Given the description of an element on the screen output the (x, y) to click on. 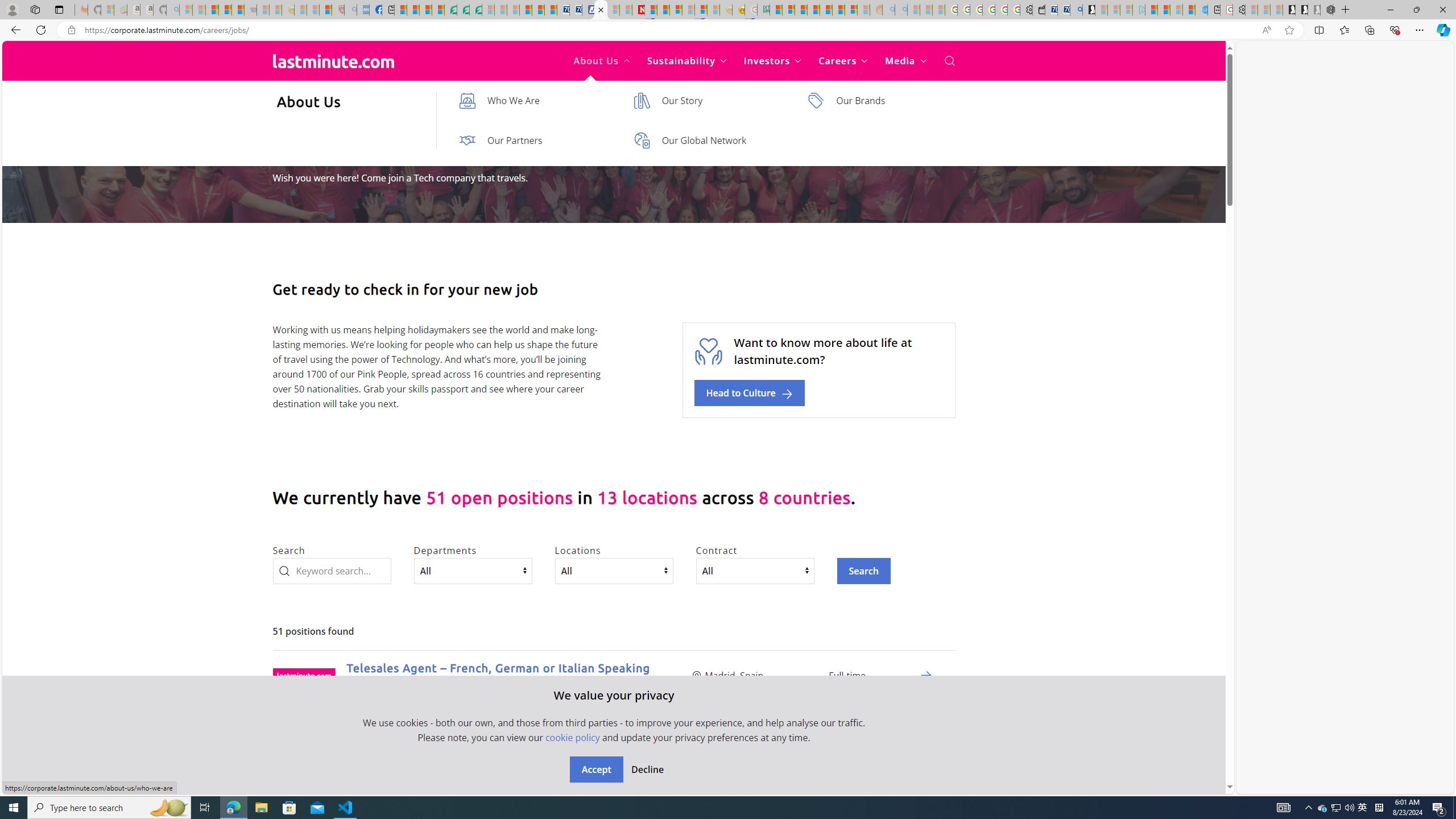
Open Search (949, 60)
Media (906, 60)
Accept (596, 769)
Contract (754, 570)
CAREERS (293, 126)
About Us (601, 60)
Locations (613, 570)
